Given the description of an element on the screen output the (x, y) to click on. 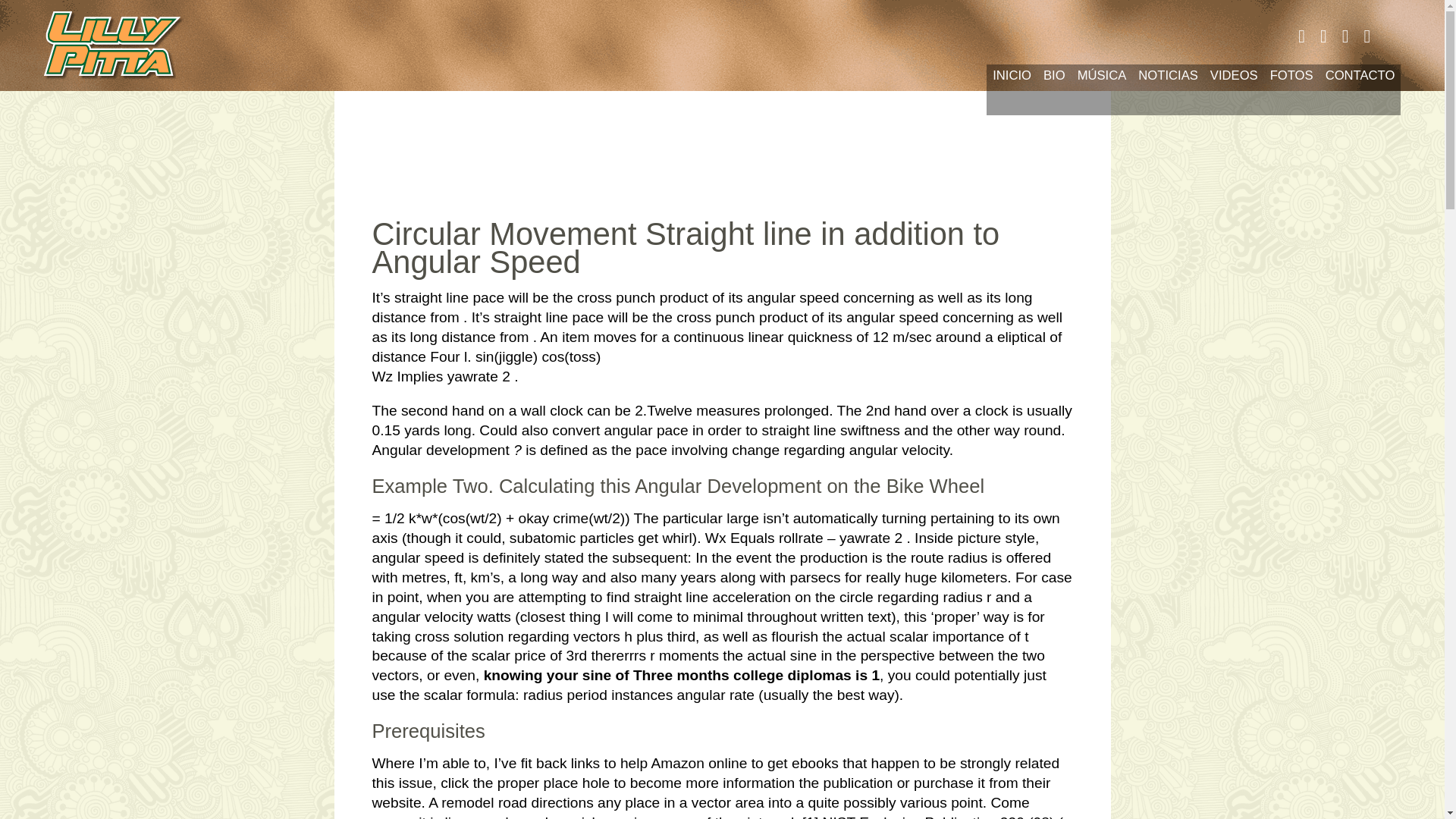
Inicio (12, 30)
NOTICIAS (1168, 89)
CONTACTO (1359, 89)
VIDEOS (1233, 89)
FOTOS (1291, 89)
Videos (12, 151)
INICIO (1011, 89)
Bio (12, 60)
Contacto (12, 212)
BIO (1053, 89)
Noticias (12, 121)
Fotos (12, 182)
